Given the description of an element on the screen output the (x, y) to click on. 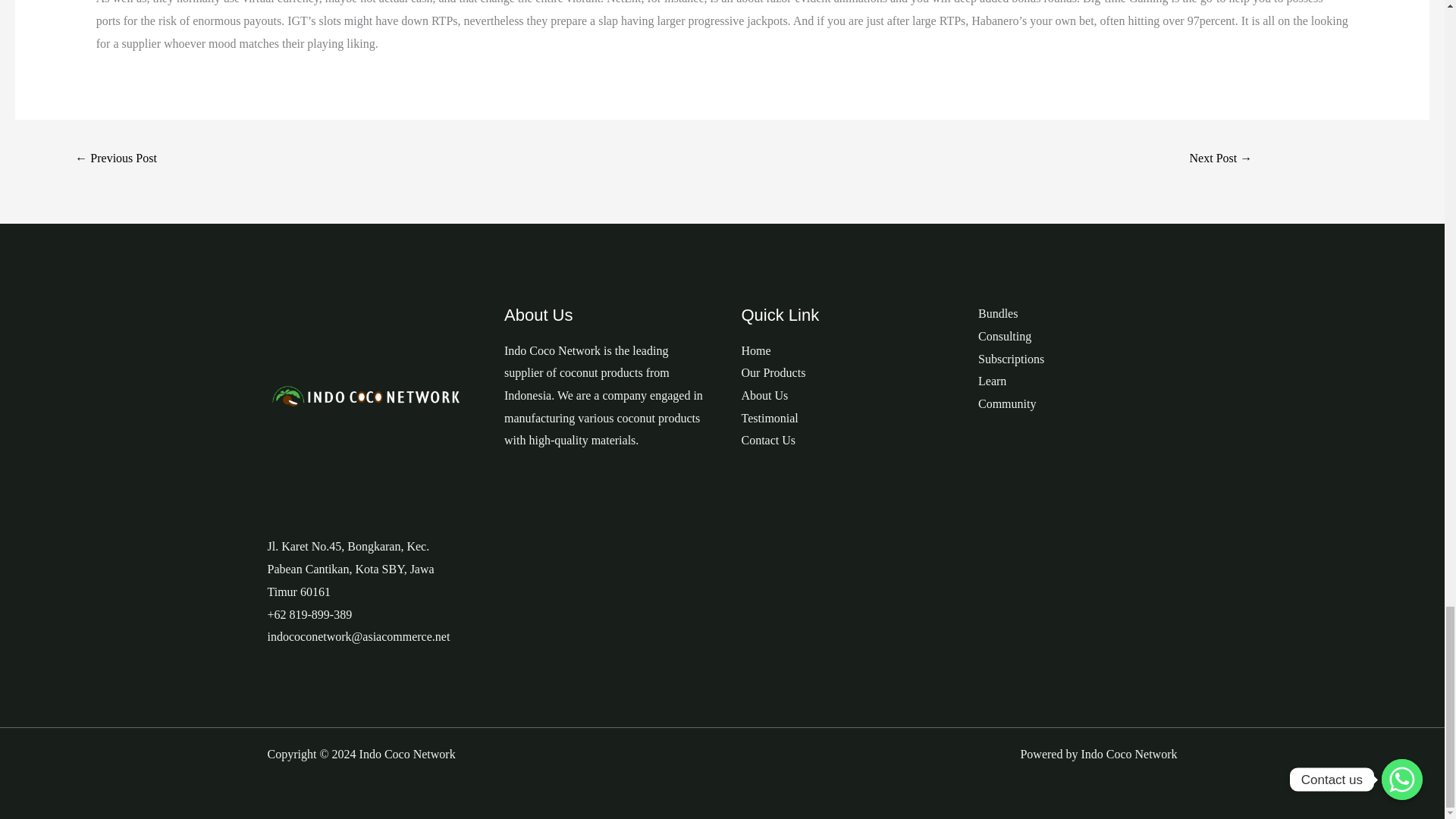
Home (756, 350)
Testimonial (769, 418)
Bundles (997, 313)
Community (1006, 403)
Contact Us (768, 440)
About Us (765, 395)
Consulting (1004, 336)
Learn (992, 380)
Subscriptions (1010, 358)
